Given the description of an element on the screen output the (x, y) to click on. 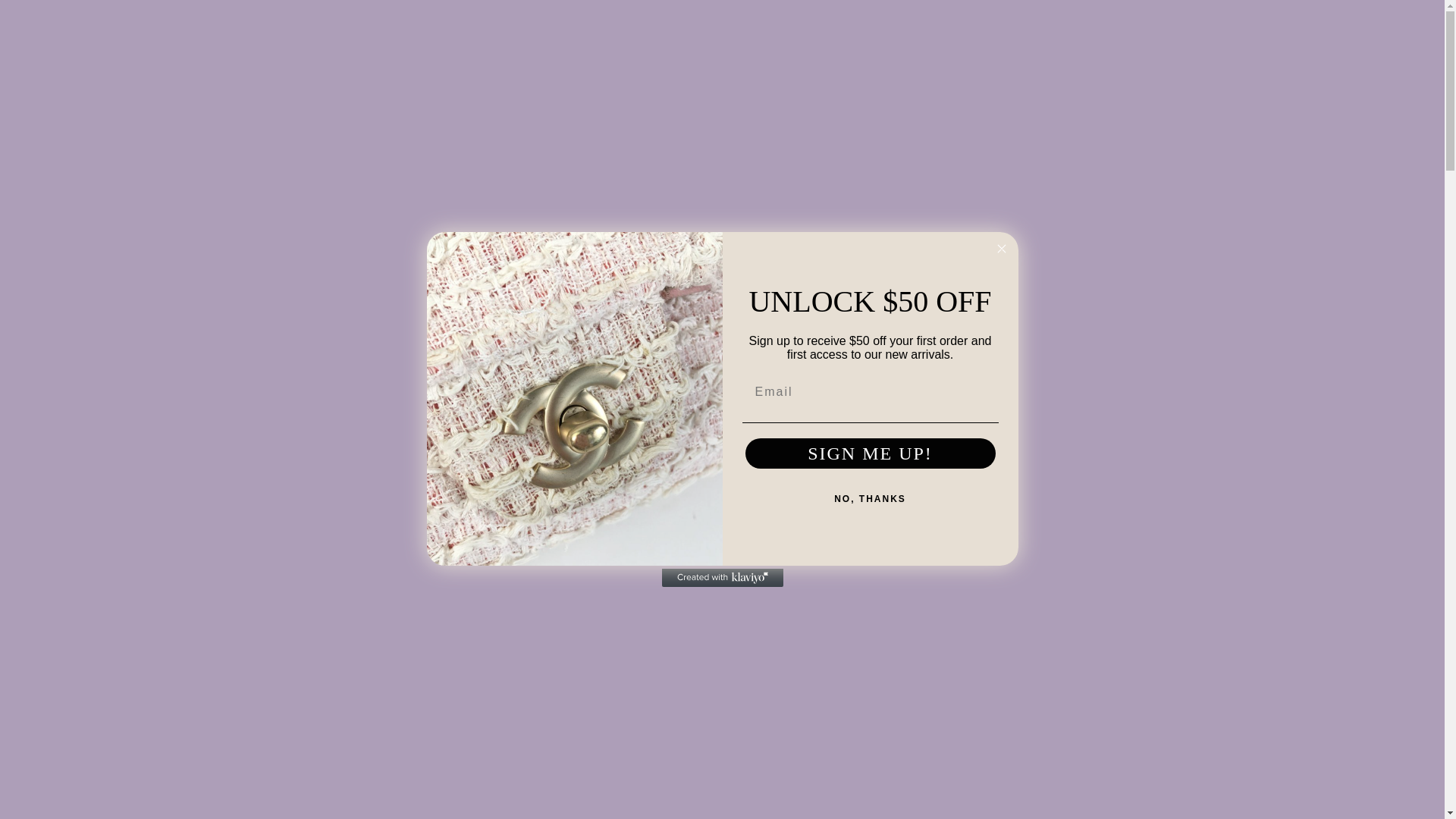
SALE (706, 123)
BLOG (761, 123)
OUR STORY (837, 123)
SHOP  (593, 123)
NEW (653, 123)
Bags for Breakfast (721, 103)
